Given the description of an element on the screen output the (x, y) to click on. 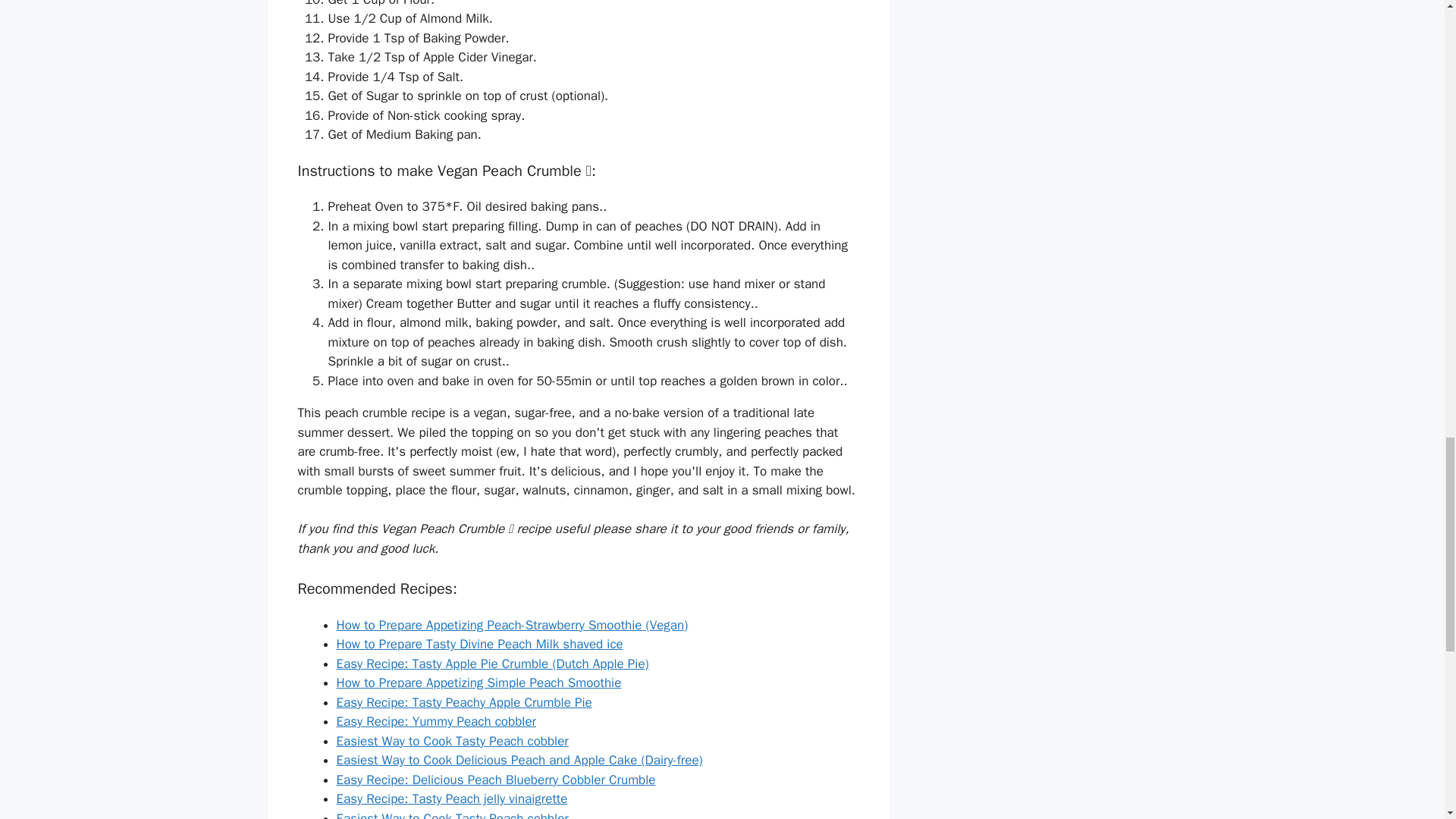
Easiest Way to Cook Tasty Peach cobbler (452, 741)
How to Prepare Appetizing Simple Peach Smoothie (478, 682)
Easiest Way to Cook Tasty Peach cobbler (452, 814)
Easy Recipe: Yummy Peach cobbler (436, 721)
Easy Recipe: Delicious Peach Blueberry Cobbler Crumble (496, 779)
Easy Recipe: Tasty Peachy Apple Crumble Pie (464, 702)
Easy Recipe: Tasty Peach jelly vinaigrette (451, 798)
How to Prepare Tasty Divine Peach Milk shaved ice (479, 643)
